Given the description of an element on the screen output the (x, y) to click on. 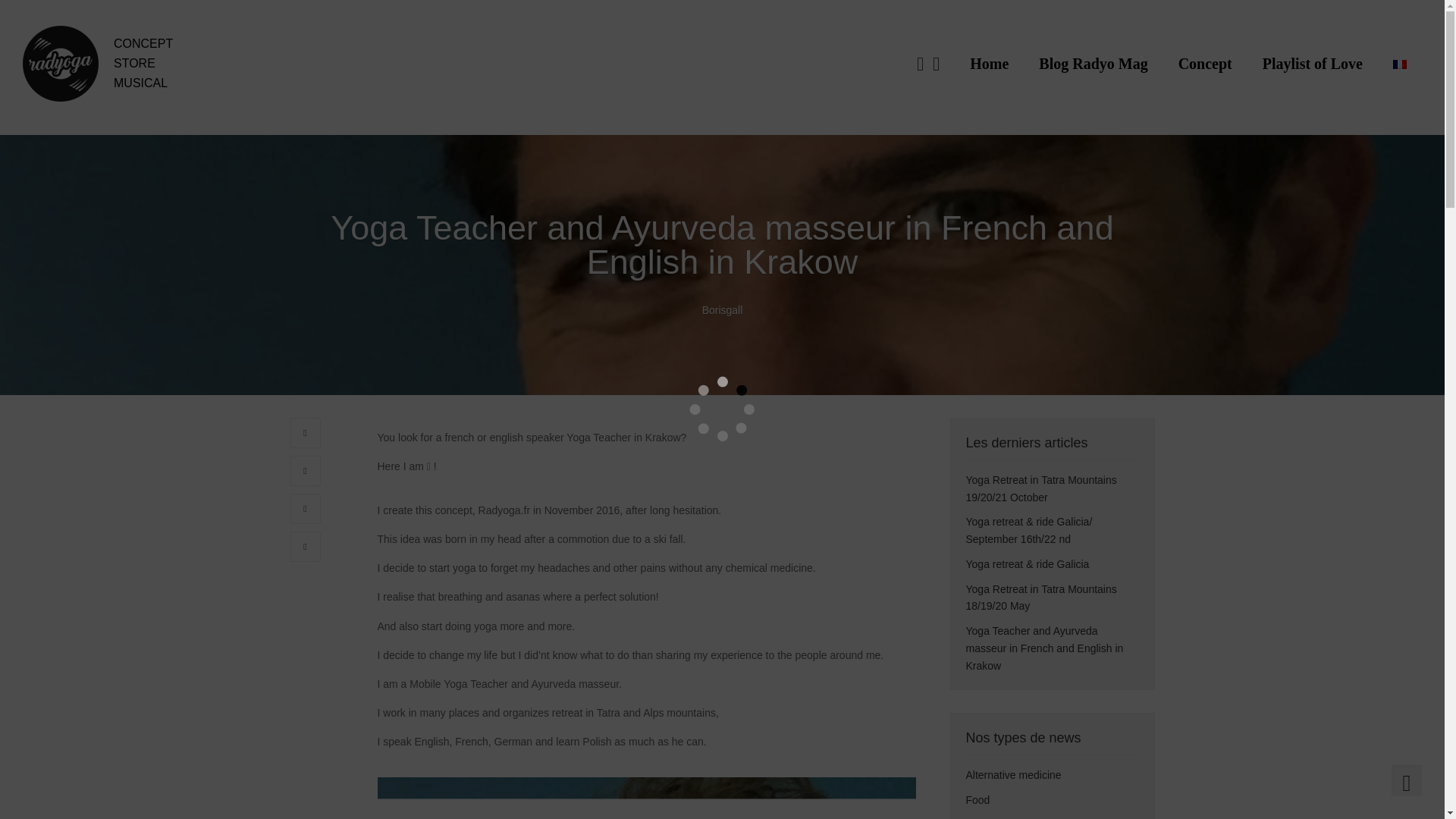
Playlist of Love (1312, 63)
Facebook (304, 432)
Googleplus (304, 508)
Twitter (304, 470)
Concept (1205, 63)
Home (989, 63)
Food (978, 799)
Pinterest (304, 546)
Alternative medicine (1013, 775)
Blog Radyo Mag (1092, 63)
Back to top (1406, 779)
